Given the description of an element on the screen output the (x, y) to click on. 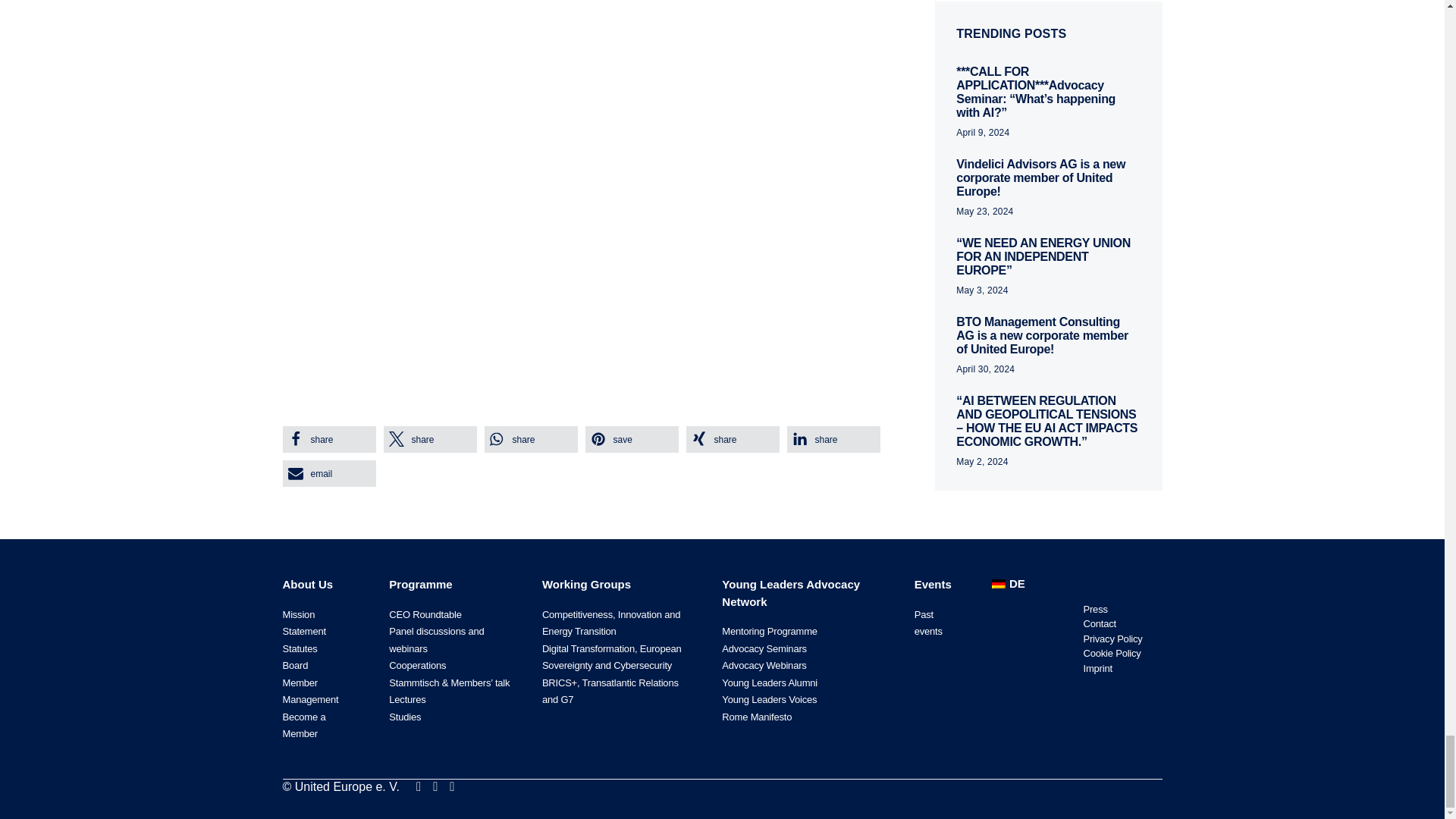
Share on Facebook (328, 438)
DE (1006, 583)
Share on X (430, 438)
Share on LinkedIn (833, 438)
Share on XING (731, 438)
Send by email (328, 473)
United Europe YP Arosa - Jan-Philipp Wilckens (524, 230)
United Europe YP Arosa - Valentina Vinante (524, 31)
Pin it on Pinterest (631, 438)
Share on Whatsapp (529, 438)
